Given the description of an element on the screen output the (x, y) to click on. 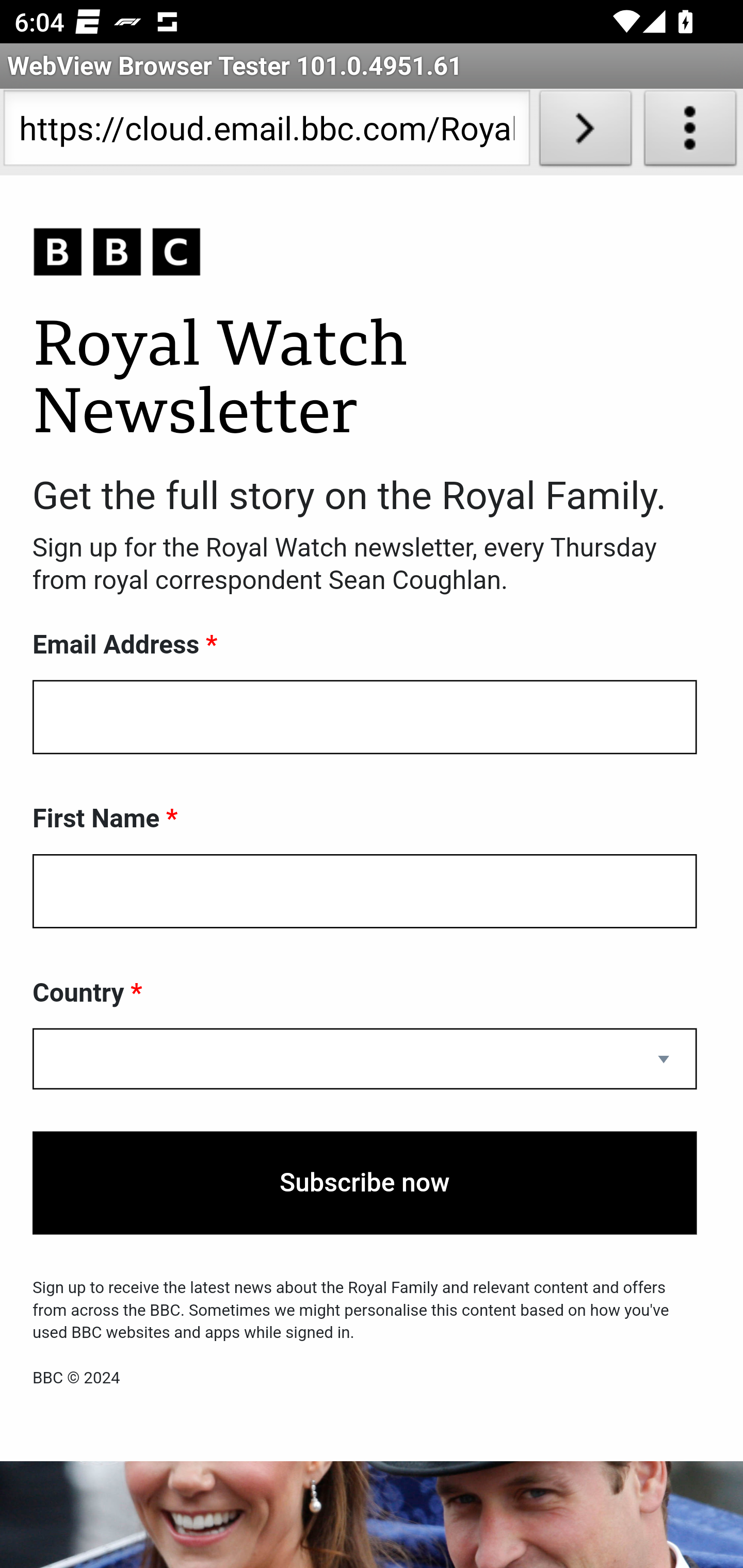
Load URL (585, 132)
About WebView (690, 132)
BBC (364, 253)
Subscribe now (364, 1182)
